Given the description of an element on the screen output the (x, y) to click on. 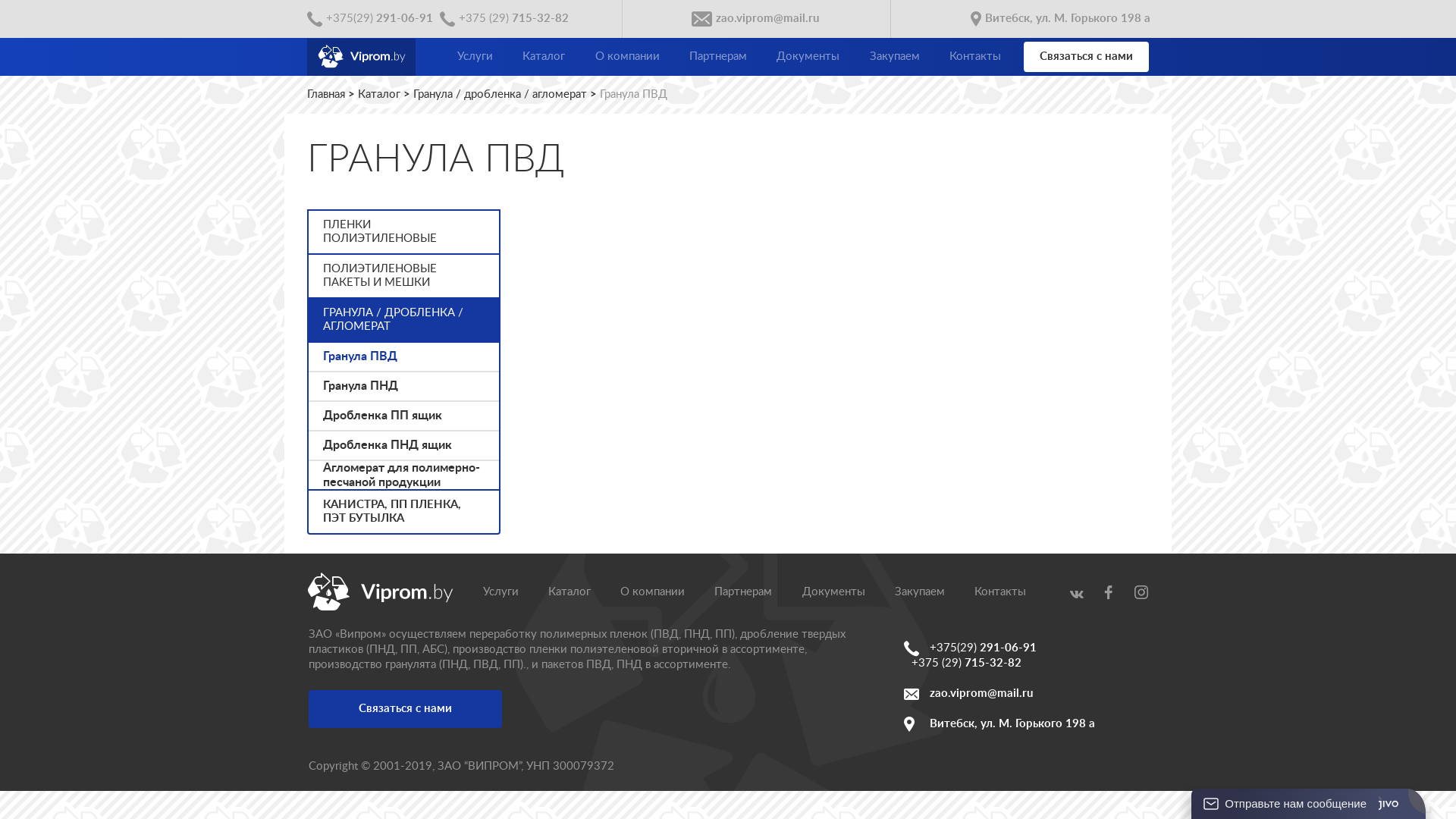
+375 (29) 715-32-82 Element type: text (503, 18)
+375(29) 291-06-91 Element type: text (969, 647)
+375 (29) 715-32-82 Element type: text (966, 663)
zao.viprom@mail.ru Element type: text (755, 18)
zao.viprom@mail.ru Element type: text (1025, 693)
+375(29) 291-06-91 Element type: text (370, 18)
